Given the description of an element on the screen output the (x, y) to click on. 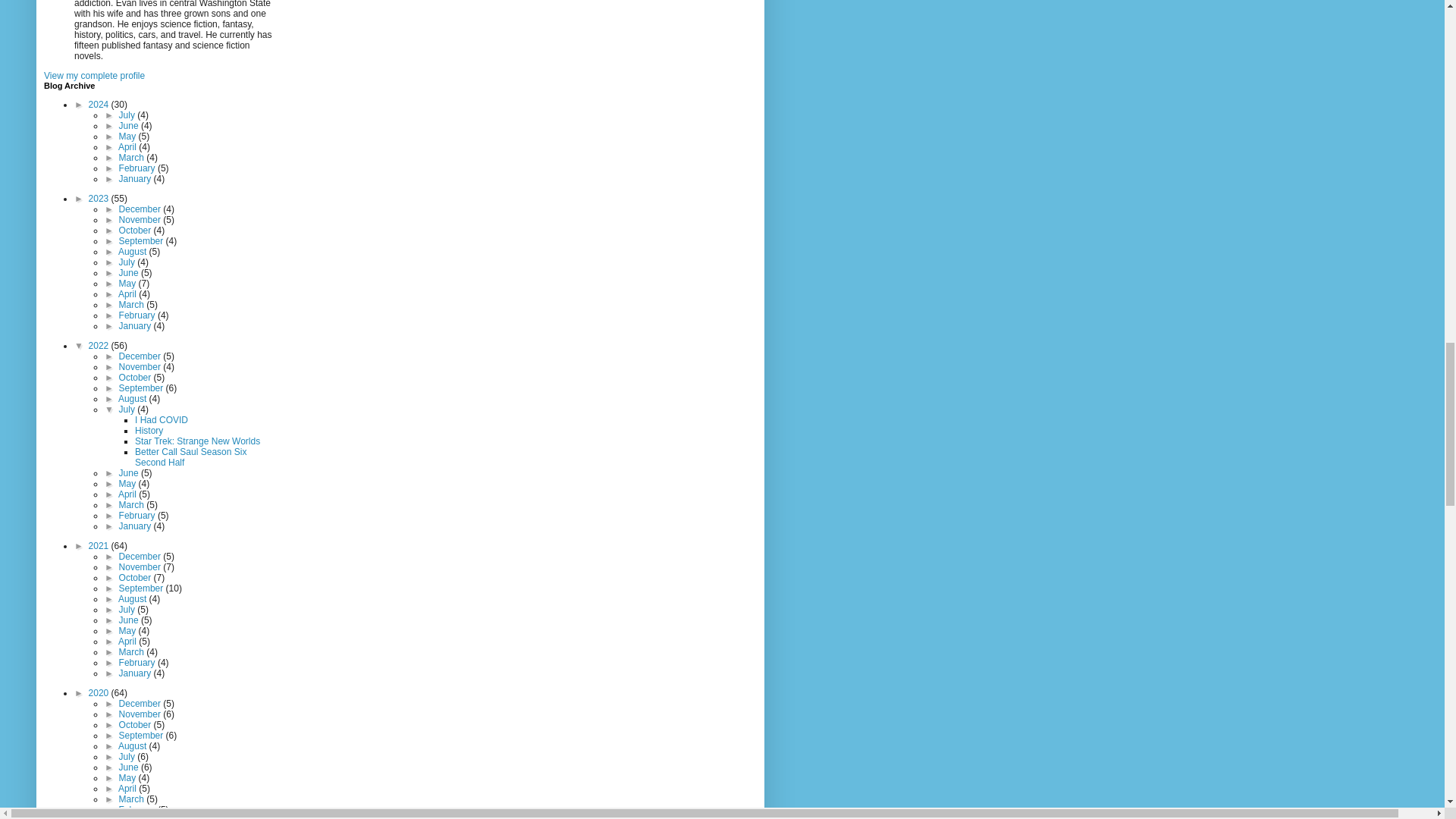
April (127, 146)
July (128, 114)
June (130, 125)
March (133, 157)
May (128, 136)
2024 (100, 104)
View my complete profile (93, 75)
